Given the description of an element on the screen output the (x, y) to click on. 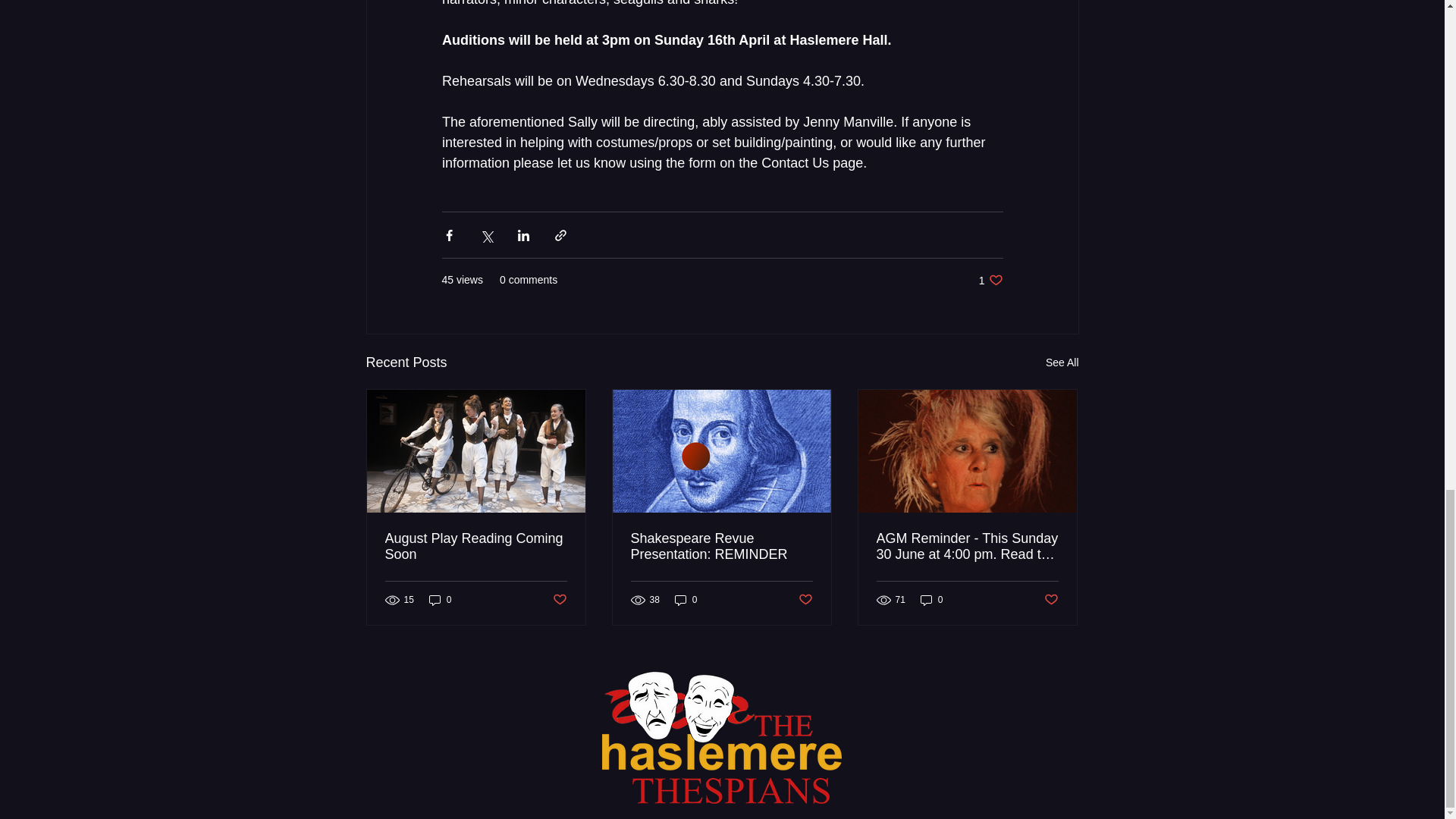
Shakespeare Revue Presentation: REMINDER (721, 546)
Post not marked as liked (558, 600)
0 (931, 599)
See All (1061, 362)
0 (990, 279)
0 (440, 599)
August Play Reading Coming Soon (685, 599)
Post not marked as liked (476, 546)
Post not marked as liked (804, 600)
